Given the description of an element on the screen output the (x, y) to click on. 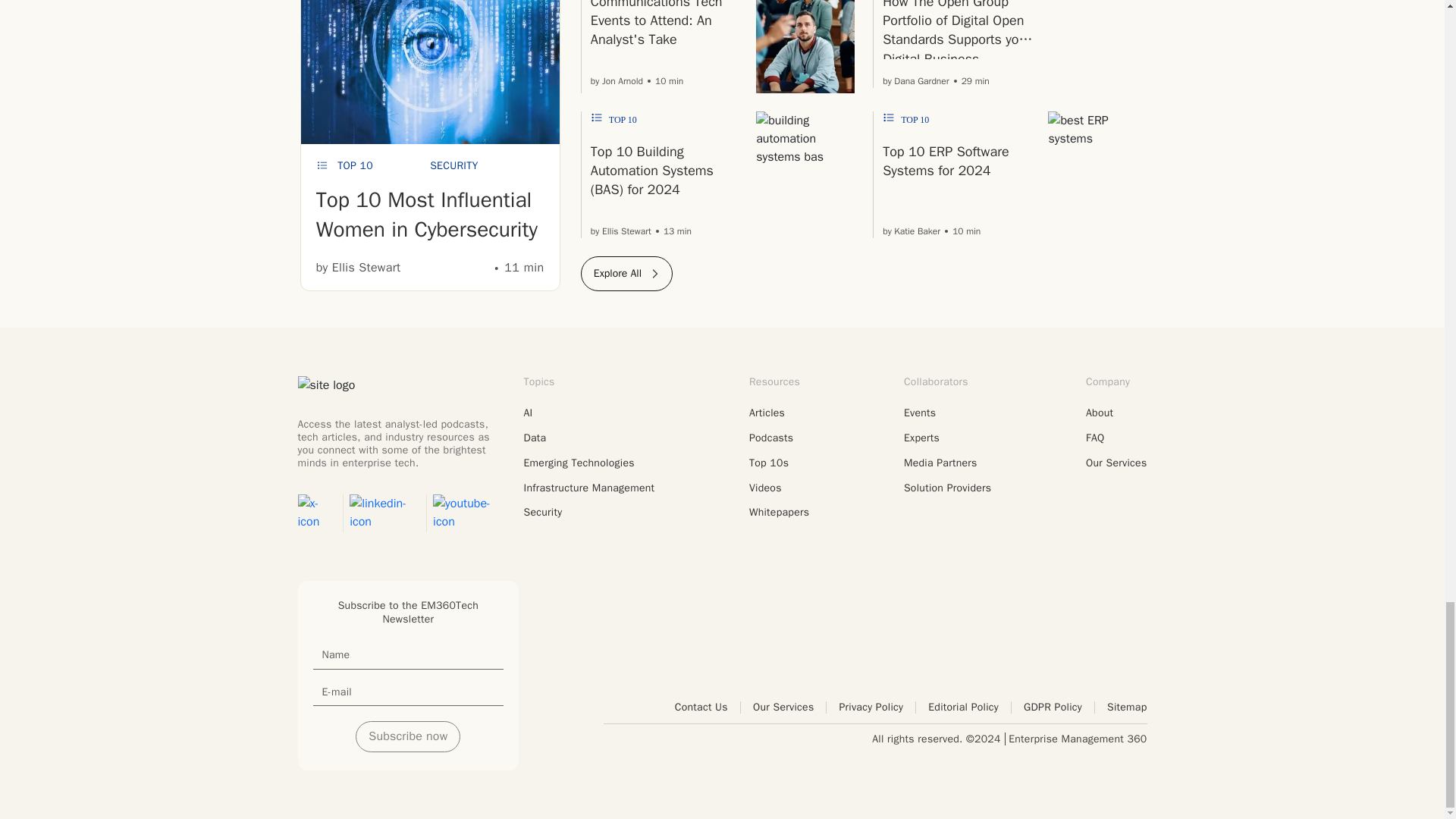
Sitemap (1126, 707)
Subscribe now (407, 736)
Privacy Policy (876, 707)
GDPR Policy (1058, 707)
